Given the description of an element on the screen output the (x, y) to click on. 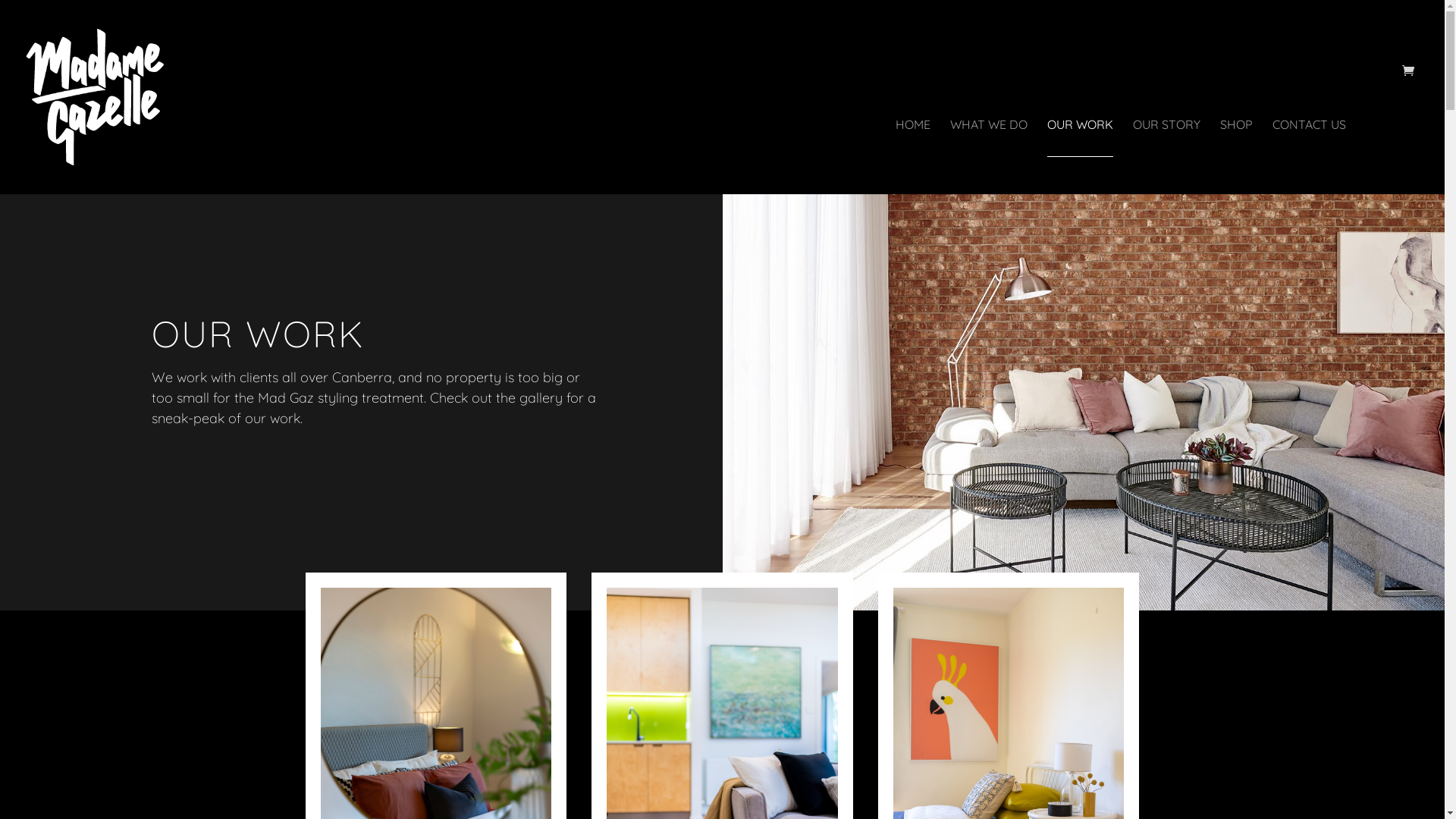
OUR WORK Element type: text (1080, 156)
SHOP Element type: text (1236, 156)
WHAT WE DO Element type: text (988, 156)
OUR STORY Element type: text (1166, 156)
CONTACT US Element type: text (1309, 156)
HOME Element type: text (912, 156)
